Given the description of an element on the screen output the (x, y) to click on. 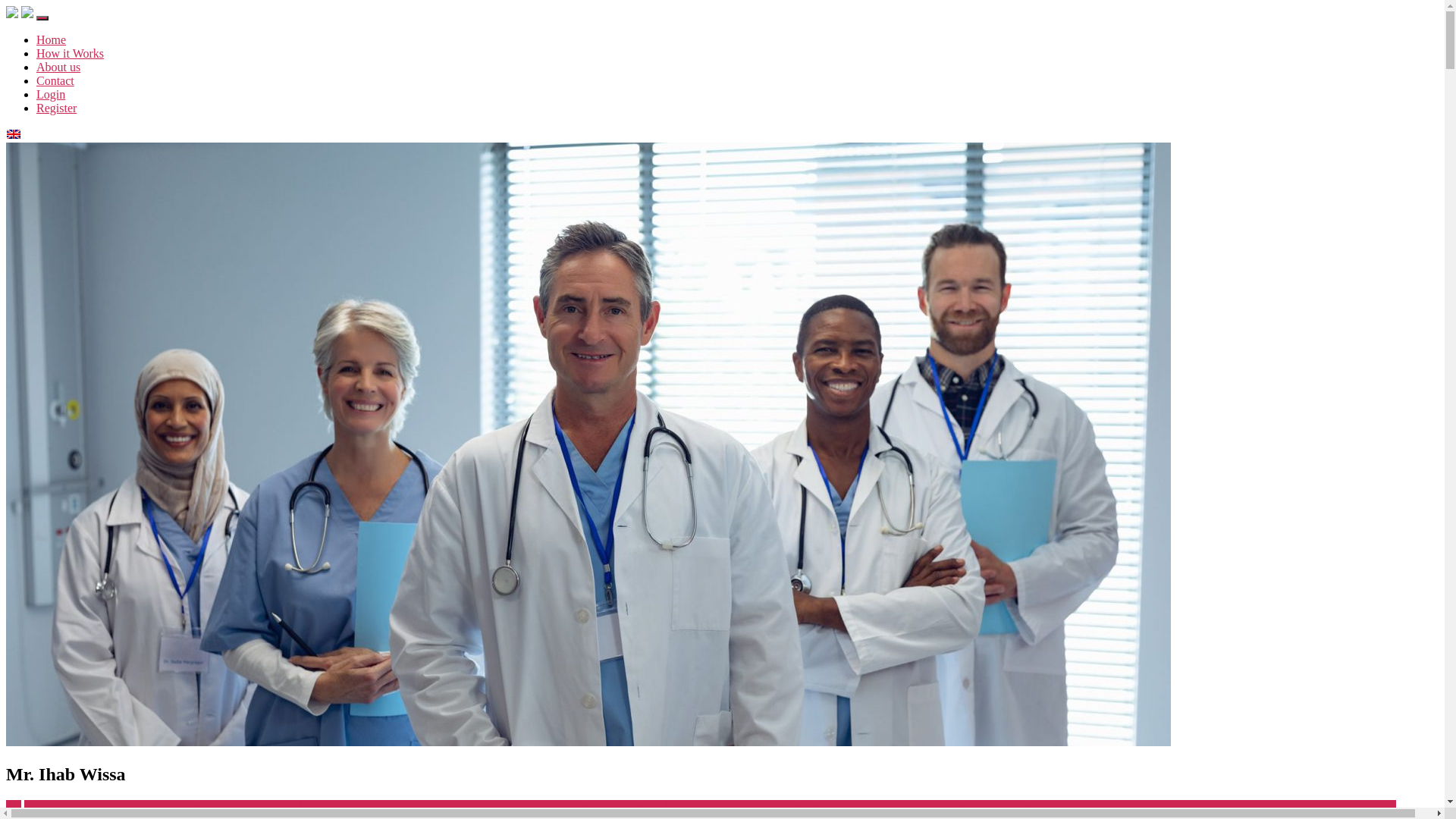
bahis Element type: text (460, 806)
best dating sites Element type: text (764, 806)
How it Works Element type: text (69, 53)
All Element type: text (13, 806)
About us Element type: text (58, 66)
After First Date Rules Element type: text (149, 806)
Home Element type: text (50, 39)
Register Element type: text (56, 107)
brides Element type: text (1001, 806)
Bettilt Element type: text (818, 806)
blog Element type: text (910, 806)
Best Countries To Meet A Wife Element type: text (650, 806)
Bitcoin News Element type: text (867, 806)
Bookkeeping Element type: text (954, 806)
asian dating Element type: text (418, 806)
English Element type: hover (13, 133)
Bahsegel Element type: text (551, 806)
casino-indonesia Element type: text (1258, 806)
AI Chatbots Element type: text (232, 806)
Contact Element type: text (55, 80)
1win-casino-tr Element type: text (59, 806)
Login Element type: text (50, 93)
casino Element type: text (1201, 806)
antikor black Element type: text (293, 806)
antikor white Element type: text (357, 806)
Bahis sitesi Element type: text (501, 806)
English Element type: text (33, 134)
Browser Hijacker Removal Guides Element type: text (1101, 806)
